Given the description of an element on the screen output the (x, y) to click on. 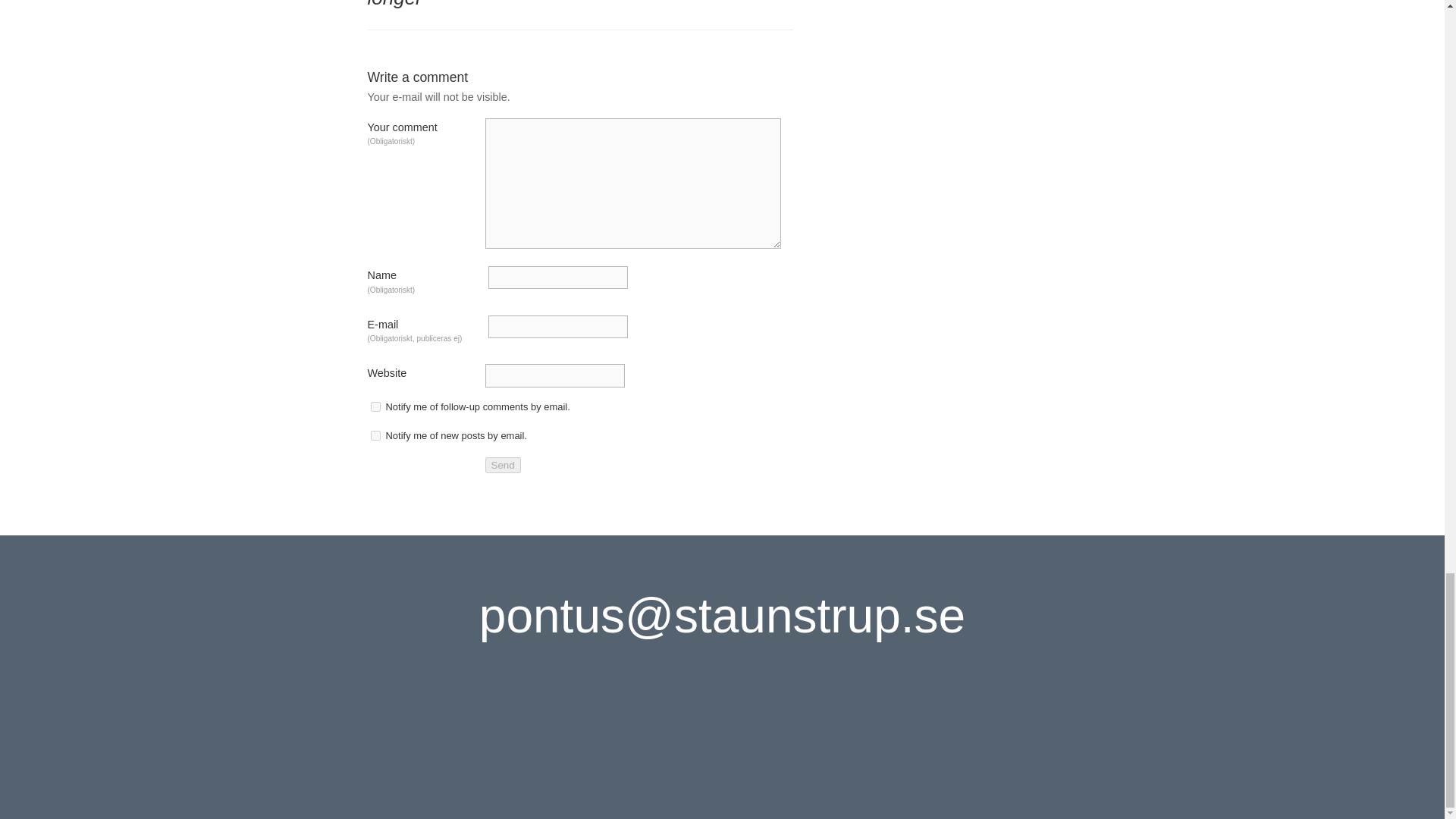
Follow me on Instagram (751, 735)
subscribe (374, 435)
Follow me on Twitter (571, 735)
View my profile on LinkedIn (632, 735)
Send (502, 465)
subscribe (374, 406)
Follow me on Slideshare (812, 735)
RSS (872, 735)
Send (502, 465)
